Given the description of an element on the screen output the (x, y) to click on. 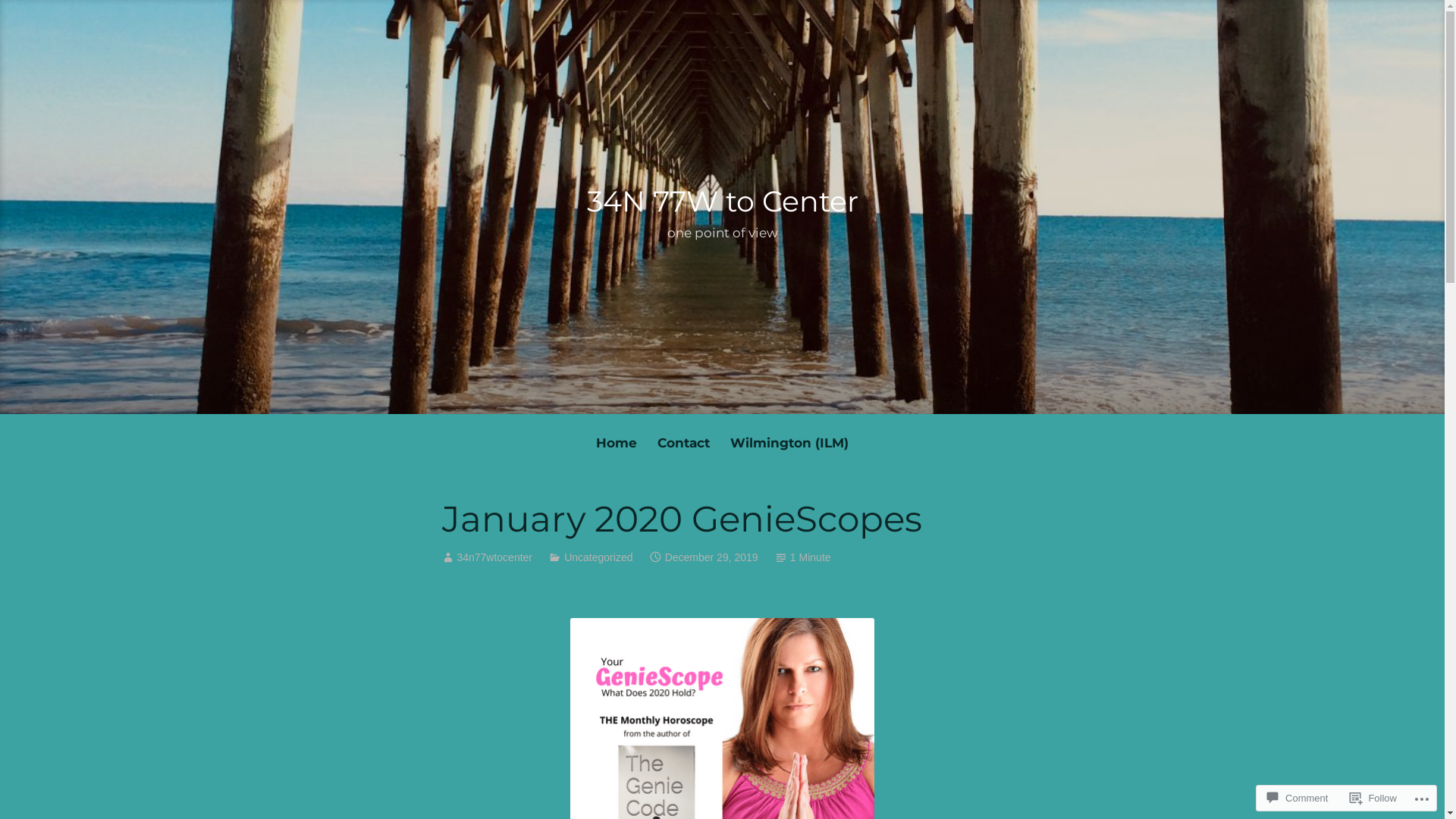
34N 77W to Center Element type: text (722, 201)
Home Element type: text (616, 443)
Uncategorized Element type: text (598, 557)
34n77wtocenter Element type: text (494, 557)
Contact Element type: text (683, 443)
Wilmington (ILM) Element type: text (788, 443)
Comment Element type: text (1297, 797)
Follow Element type: text (1372, 797)
